Given the description of an element on the screen output the (x, y) to click on. 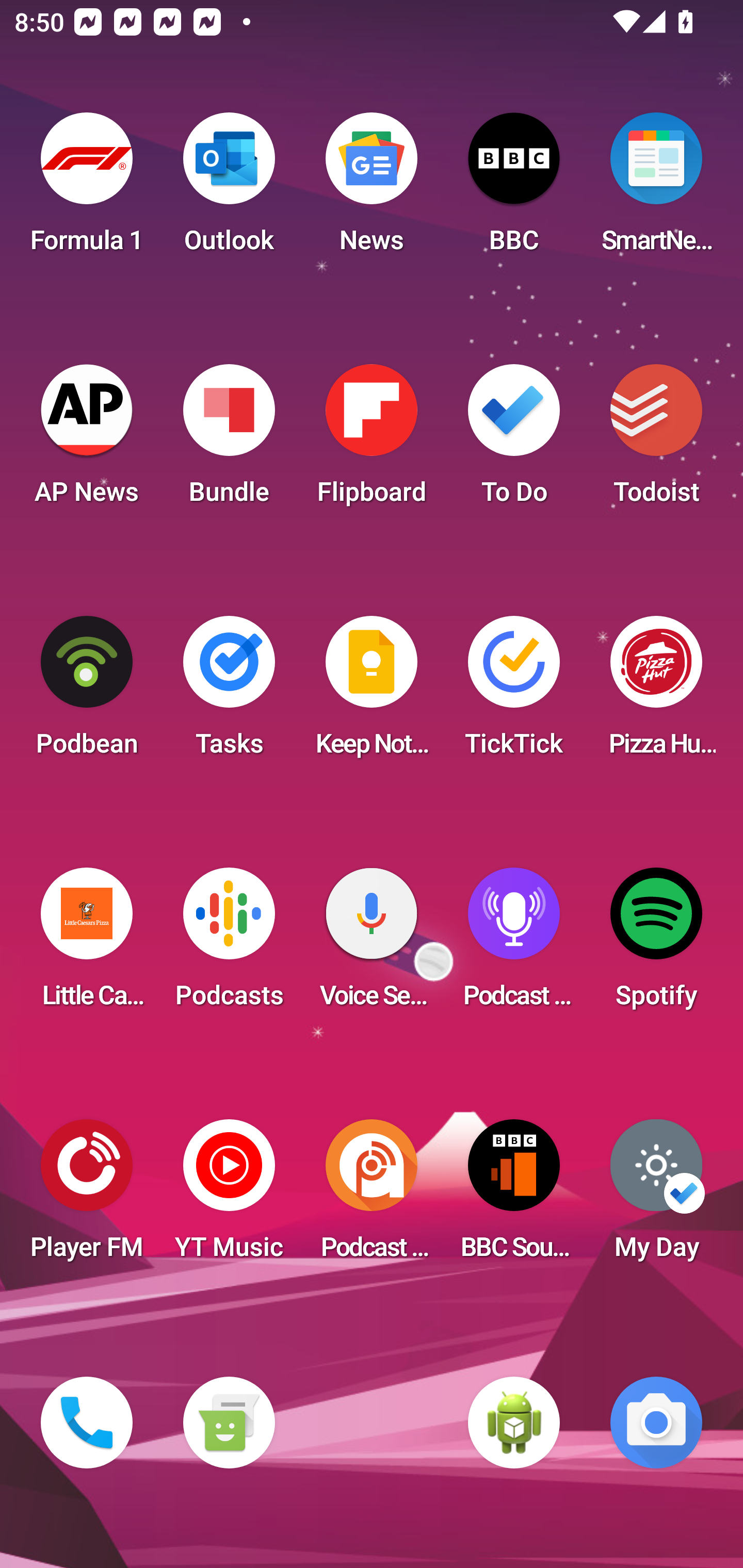
Formula 1 (86, 188)
Outlook (228, 188)
News (371, 188)
BBC (513, 188)
SmartNews (656, 188)
AP News (86, 440)
Bundle (228, 440)
Flipboard (371, 440)
To Do (513, 440)
Todoist (656, 440)
Podbean (86, 692)
Tasks (228, 692)
Keep Notes (371, 692)
TickTick (513, 692)
Pizza Hut HK & Macau (656, 692)
Little Caesars Pizza (86, 943)
Podcasts (228, 943)
Voice Search (371, 943)
Podcast Player (513, 943)
Spotify (656, 943)
Player FM (86, 1195)
YT Music (228, 1195)
Podcast Addict (371, 1195)
BBC Sounds (513, 1195)
My Day (656, 1195)
Phone (86, 1422)
Messaging (228, 1422)
WebView Browser Tester (513, 1422)
Camera (656, 1422)
